Given the description of an element on the screen output the (x, y) to click on. 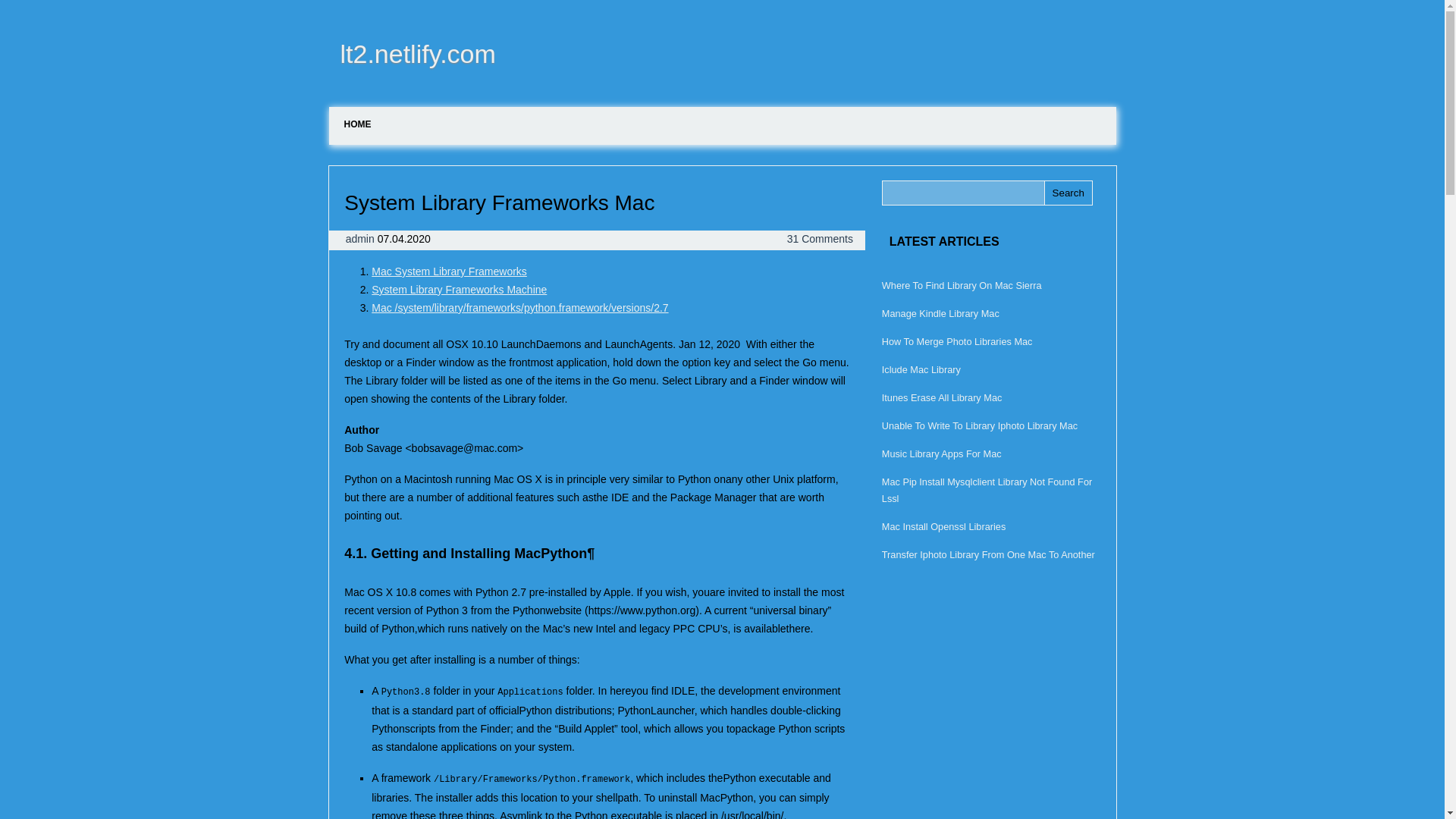
Mac Install Openssl Libraries (944, 526)
admin  (361, 238)
Where To Find Library On Mac Sierra (962, 285)
Itunes Erase All Library Mac (942, 397)
Search (1068, 192)
31 Comments (820, 238)
How To Merge Photo Libraries Mac (957, 341)
Posts by admin (361, 238)
System Library Frameworks Machine (459, 289)
Iclude Mac Library (921, 369)
Transfer Iphoto Library From One Mac To Another (988, 554)
HOME (358, 123)
Music Library Apps For Mac (941, 453)
Manage Kindle Library Mac (940, 313)
Unable To Write To Library Iphoto Library Mac (979, 425)
